Given the description of an element on the screen output the (x, y) to click on. 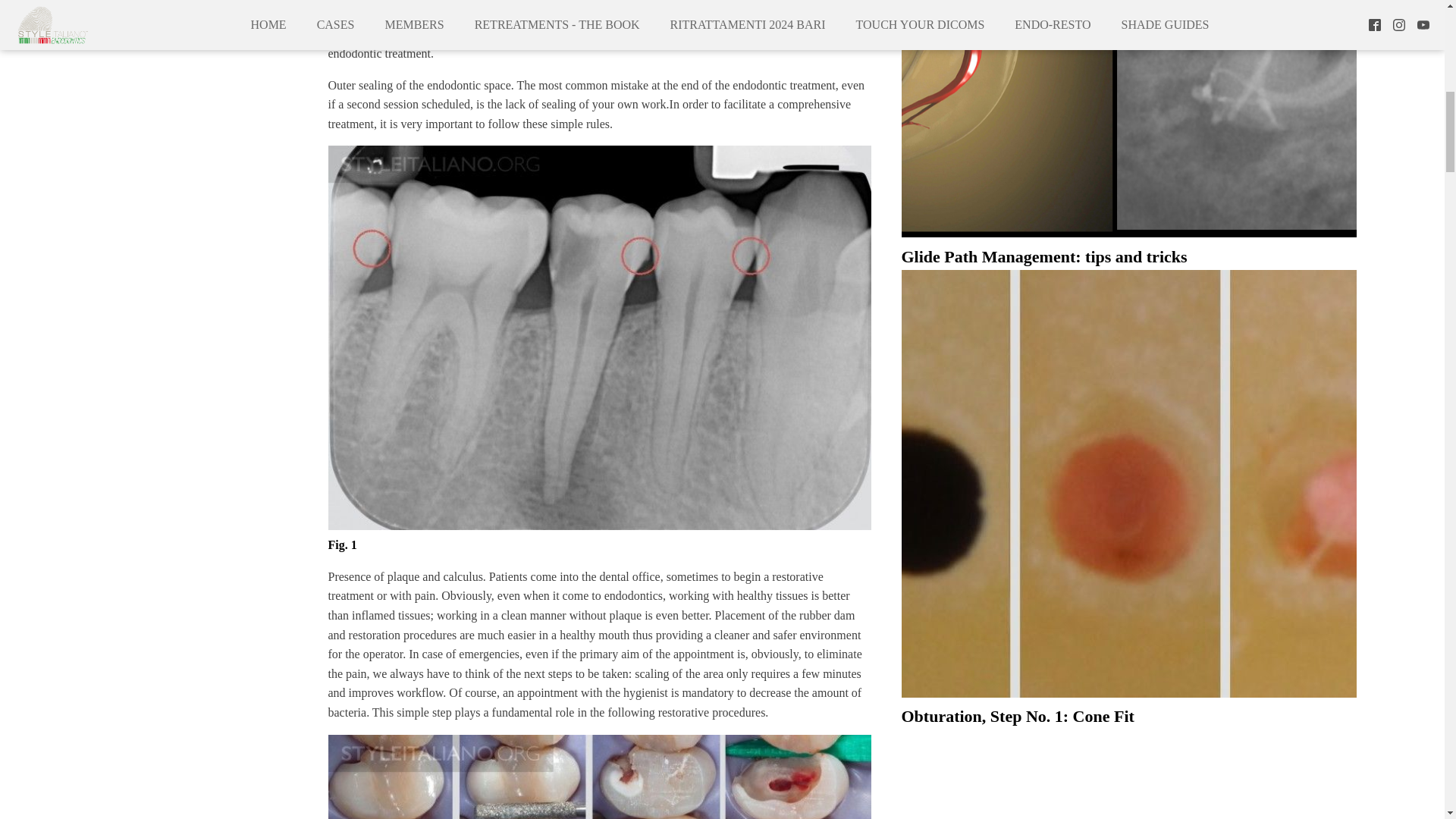
Obturation, Step No. 1: Cone Fit (1128, 708)
Glide Path Management: tips and tricks (1128, 248)
